Given the description of an element on the screen output the (x, y) to click on. 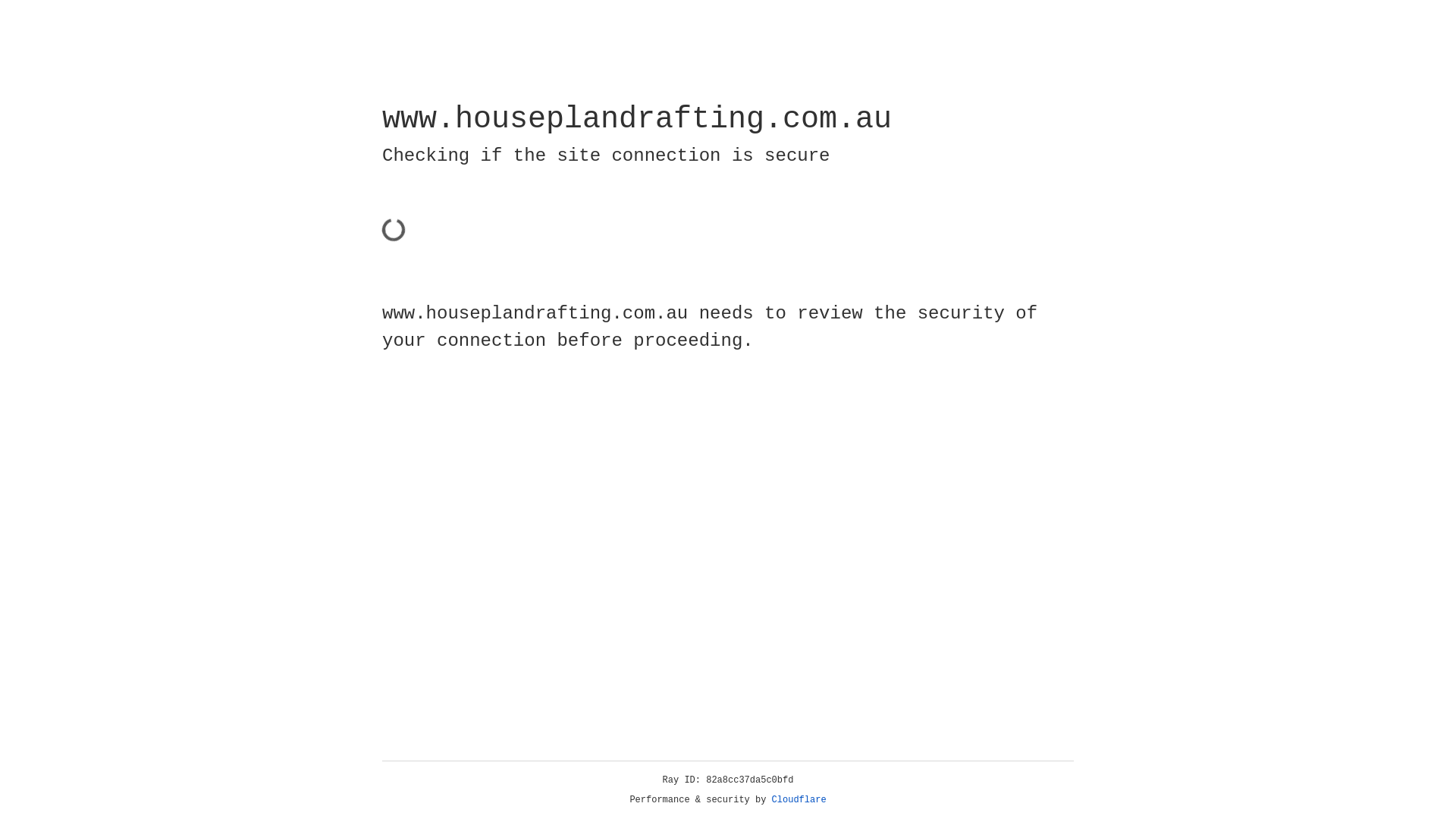
Cloudflare Element type: text (798, 799)
